Given the description of an element on the screen output the (x, y) to click on. 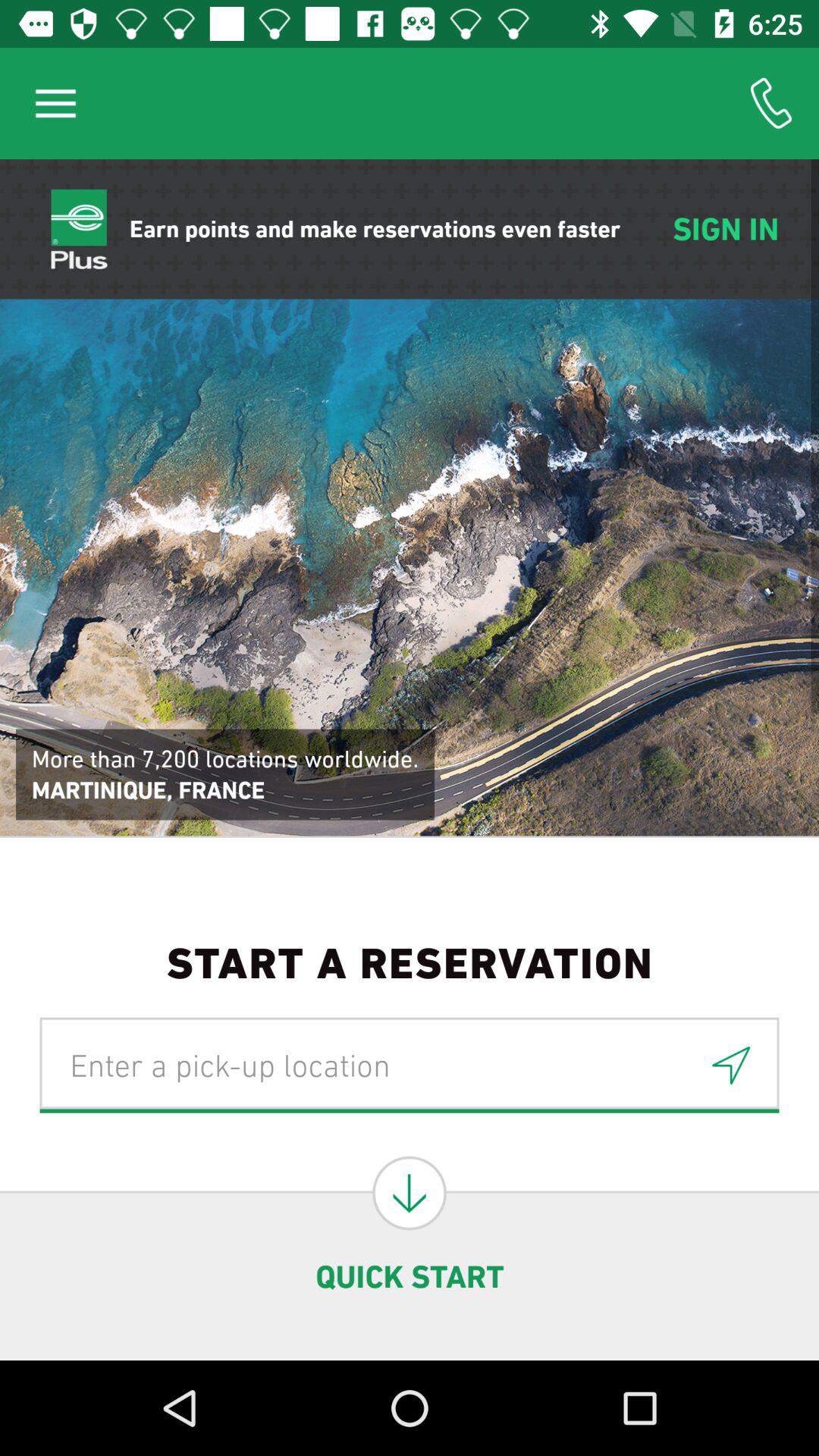
pickup location field (409, 1065)
